Given the description of an element on the screen output the (x, y) to click on. 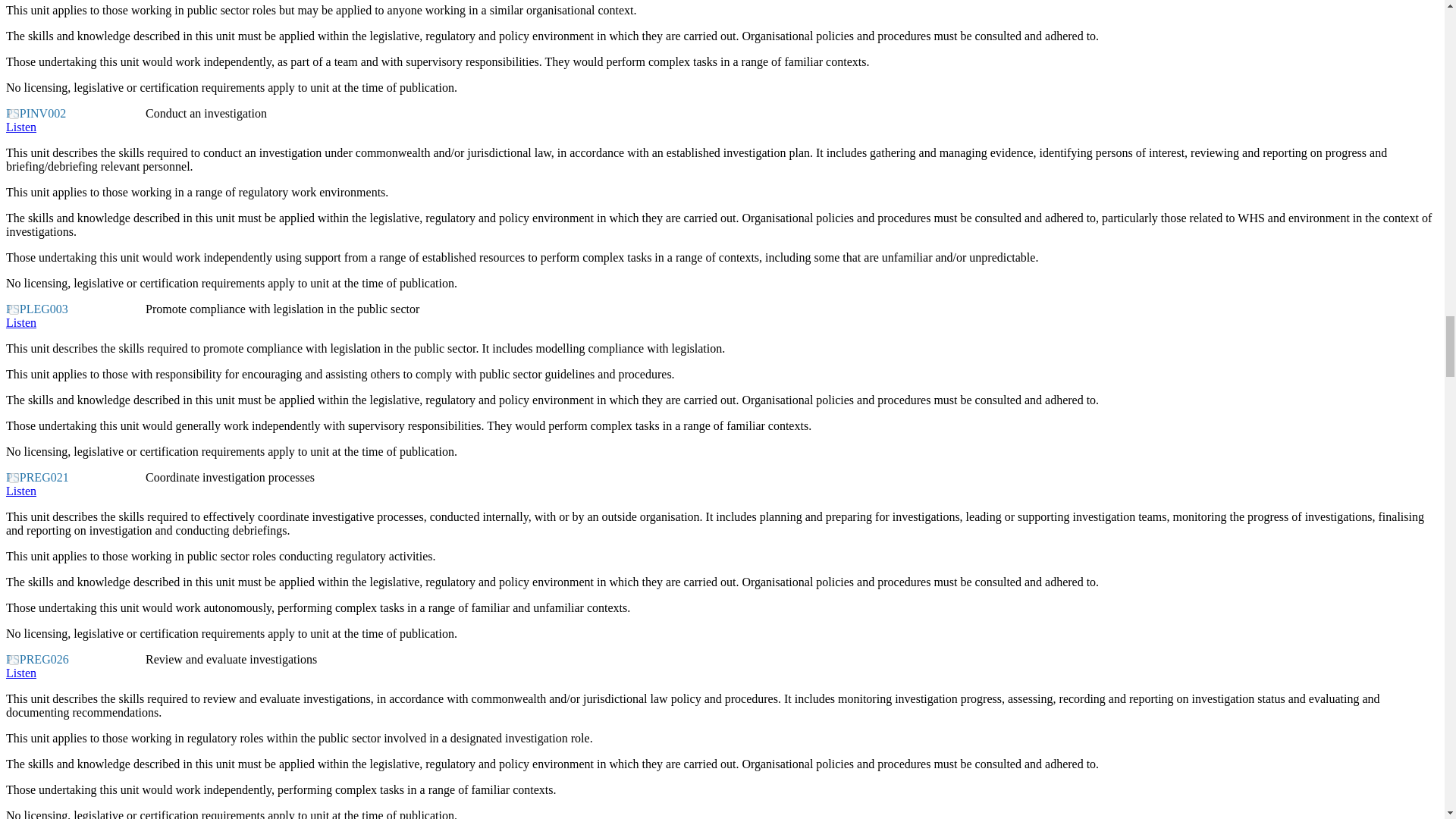
on (13, 660)
Listen to this page using ReadSpeaker (20, 322)
on (13, 478)
Listen to this page using ReadSpeaker (20, 490)
on (13, 113)
on (13, 309)
Listen to this page using ReadSpeaker (20, 126)
Listen to this page using ReadSpeaker (20, 672)
